Given the description of an element on the screen output the (x, y) to click on. 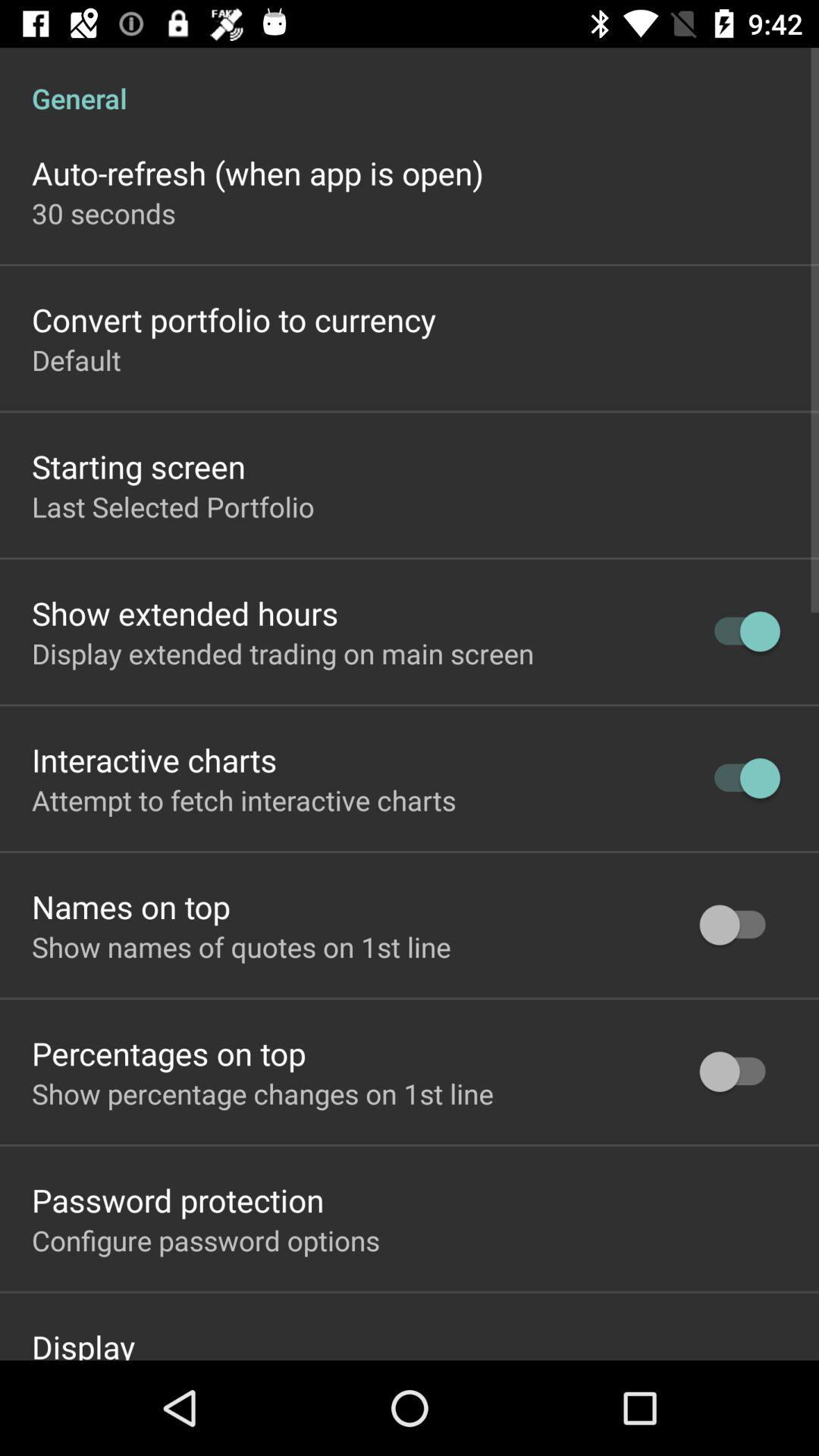
tap item above the configure password options (177, 1199)
